Given the description of an element on the screen output the (x, y) to click on. 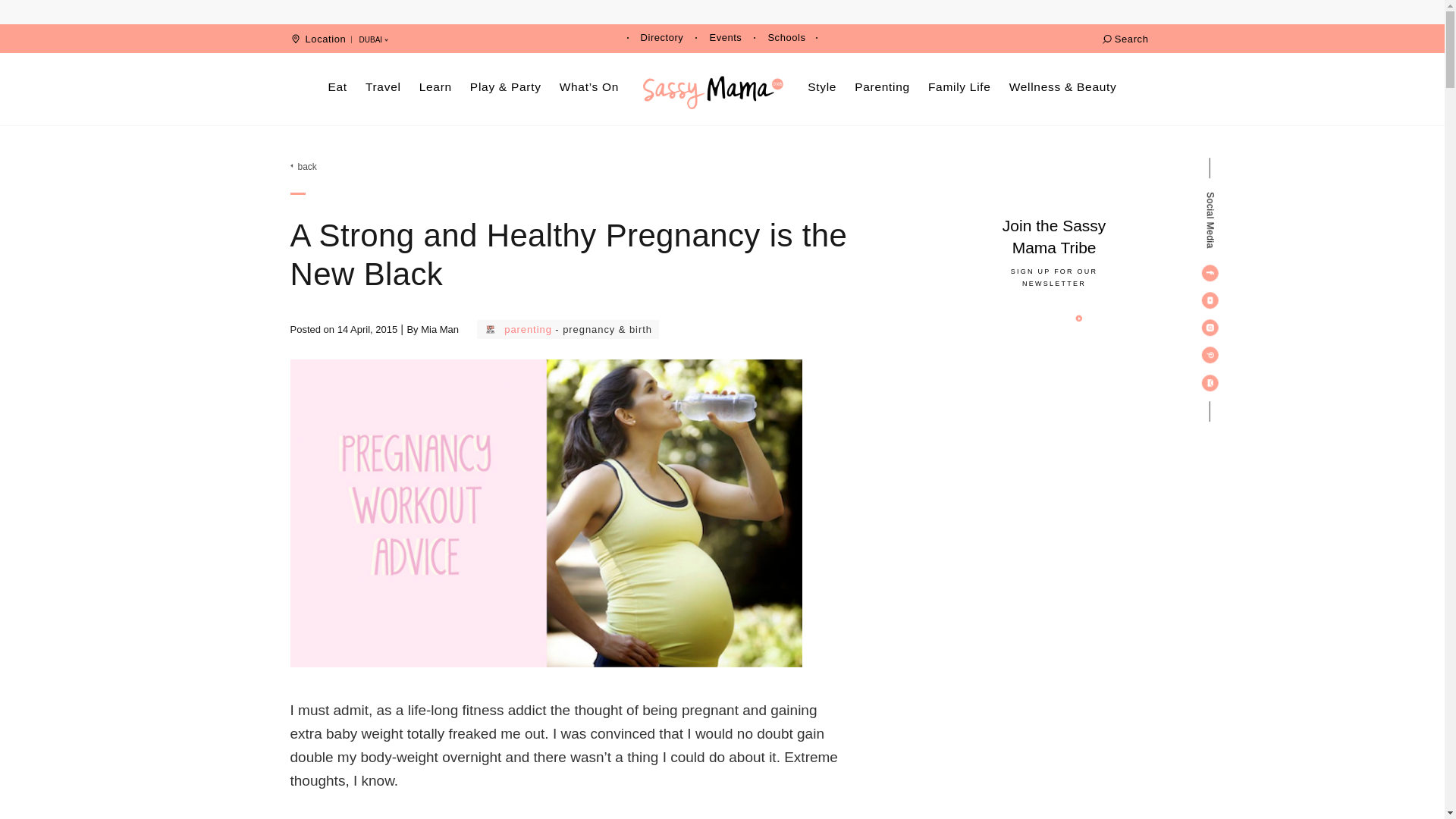
Sassy Mama Facebook Page (1209, 272)
Sassy Mama Instagram (1209, 327)
Learn (435, 87)
Eat (336, 87)
Schools (785, 38)
Travel (383, 87)
Sassy Mama Pinterest (1209, 354)
Sassy Mama Youtube (1209, 299)
